Given the description of an element on the screen output the (x, y) to click on. 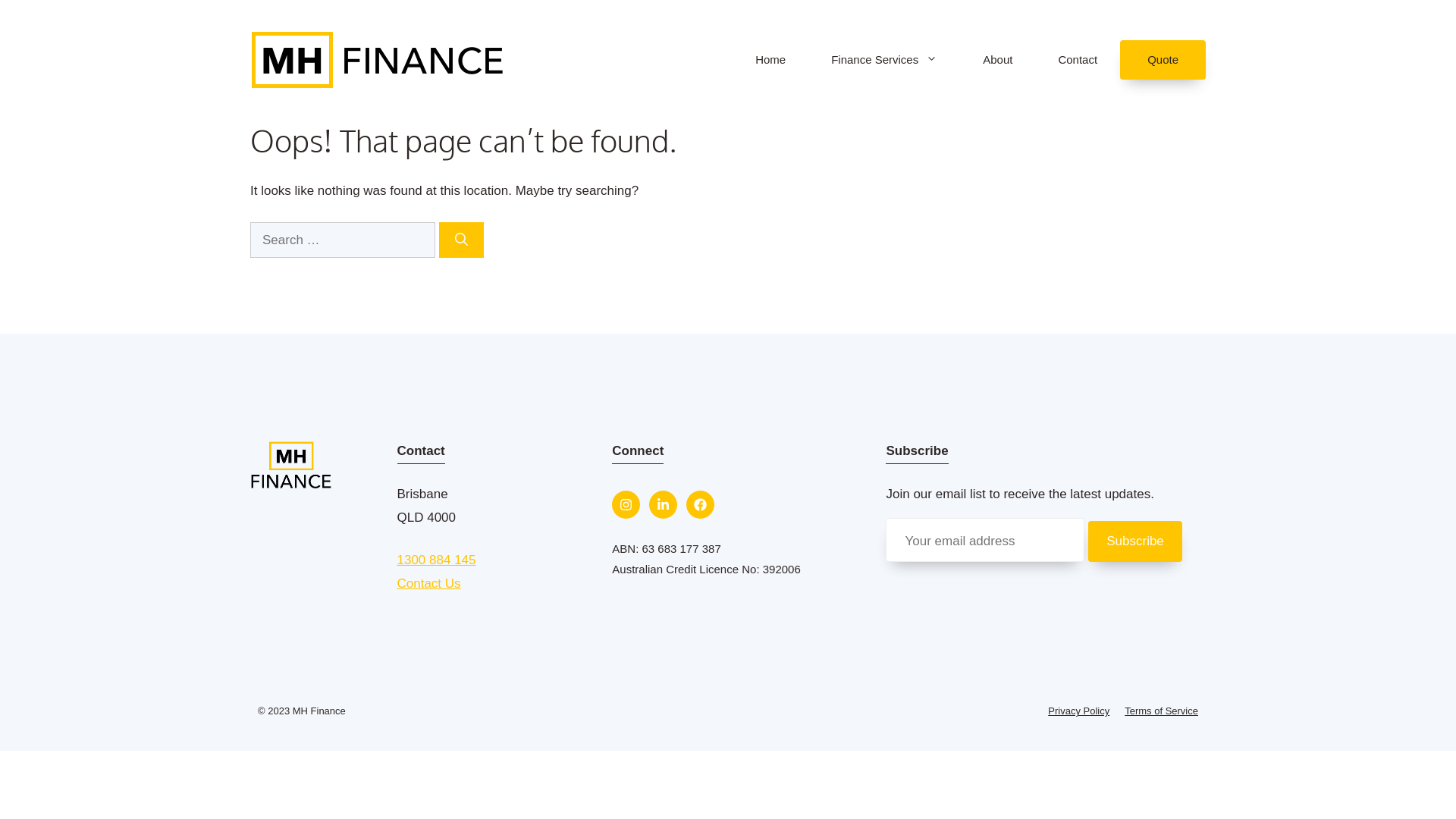
MH Finance Element type: hover (377, 59)
Home Element type: text (770, 58)
Search for: Element type: hover (342, 240)
Contact Us Element type: text (429, 583)
Subscribe Element type: text (1135, 540)
Contact Element type: text (1077, 58)
About Element type: text (997, 58)
1300 884 145 Element type: text (436, 559)
Quote Element type: text (1162, 58)
Privacy Policy Element type: text (1078, 710)
MH Finance Element type: hover (377, 58)
Finance Services Element type: text (884, 58)
Terms of Service Element type: text (1161, 710)
